Given the description of an element on the screen output the (x, y) to click on. 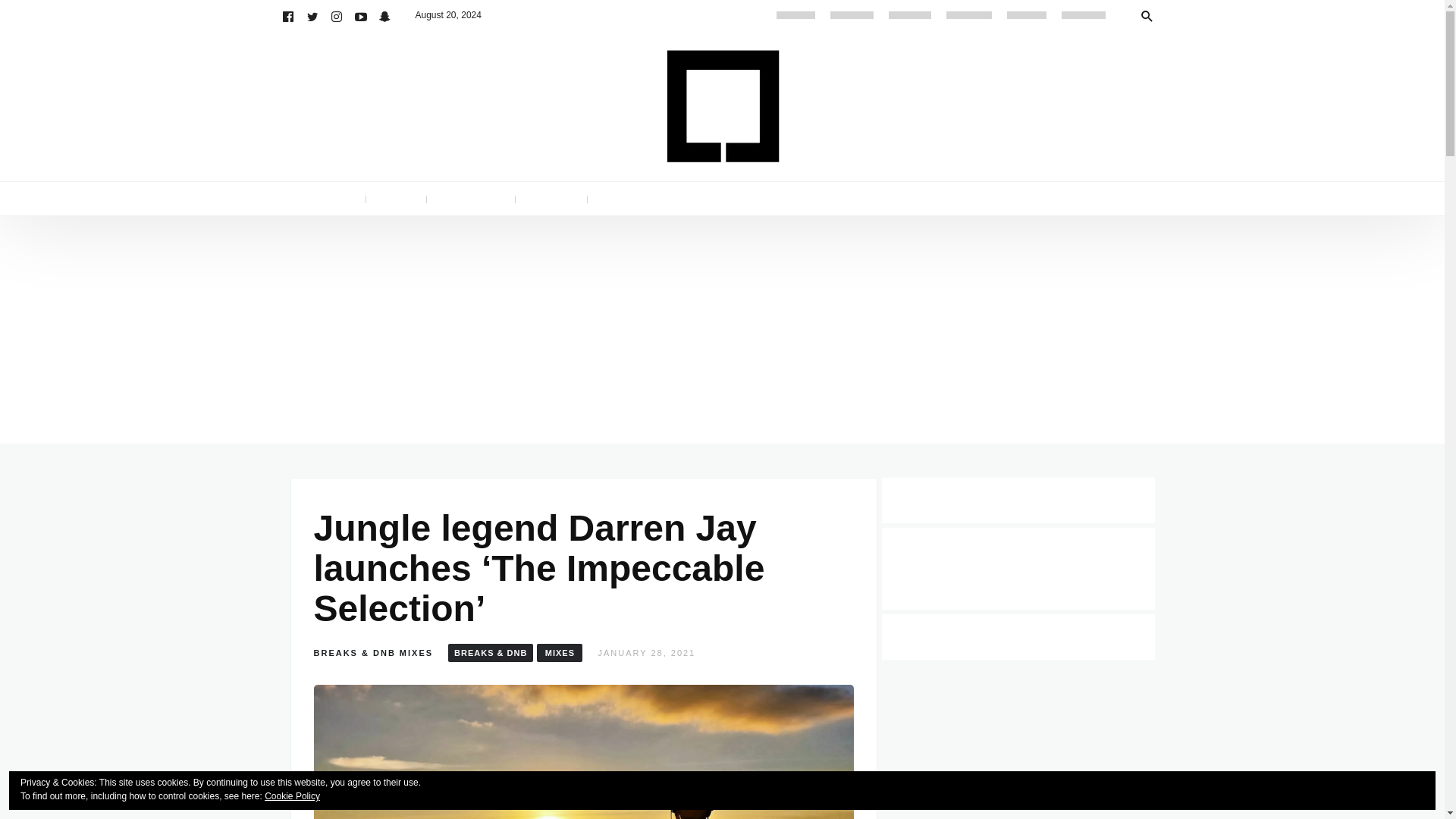
Instagram (336, 14)
Snapchat (384, 14)
YouTube (360, 14)
Twitter (311, 14)
View all posts in Mixes (415, 652)
View all posts in Mixes (559, 652)
Facebook (288, 14)
